Given the description of an element on the screen output the (x, y) to click on. 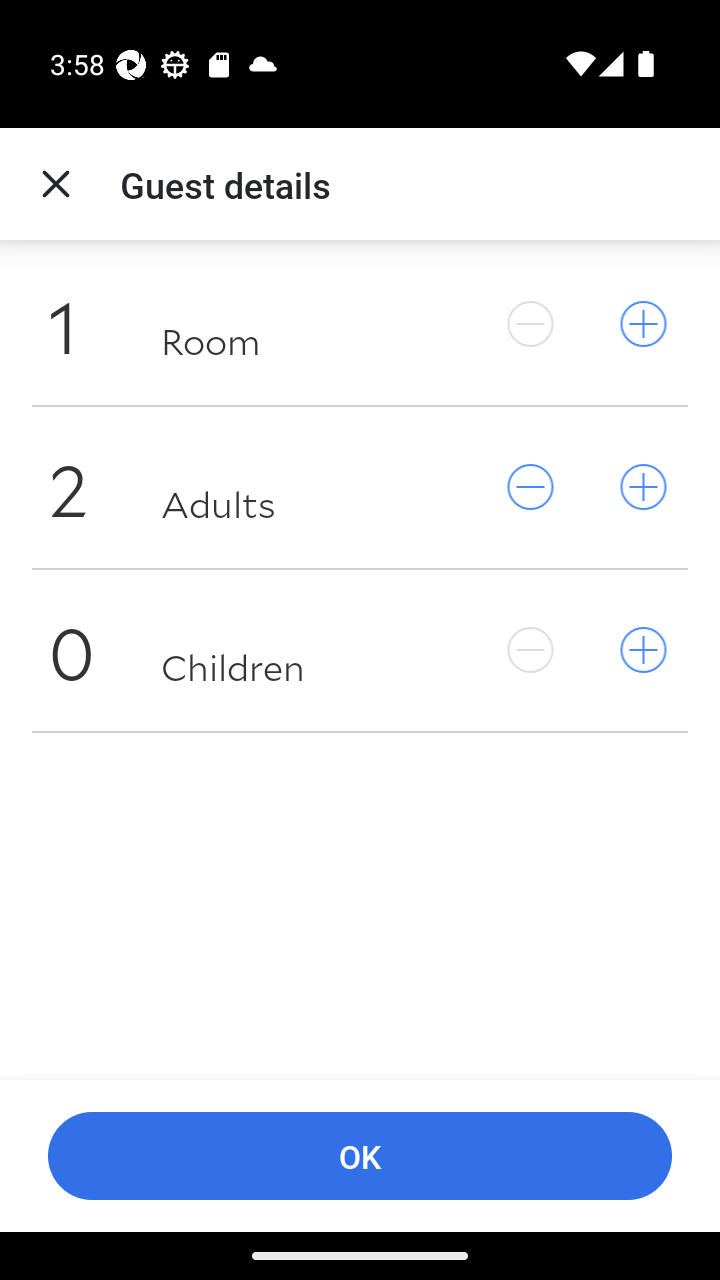
OK (359, 1156)
